Given the description of an element on the screen output the (x, y) to click on. 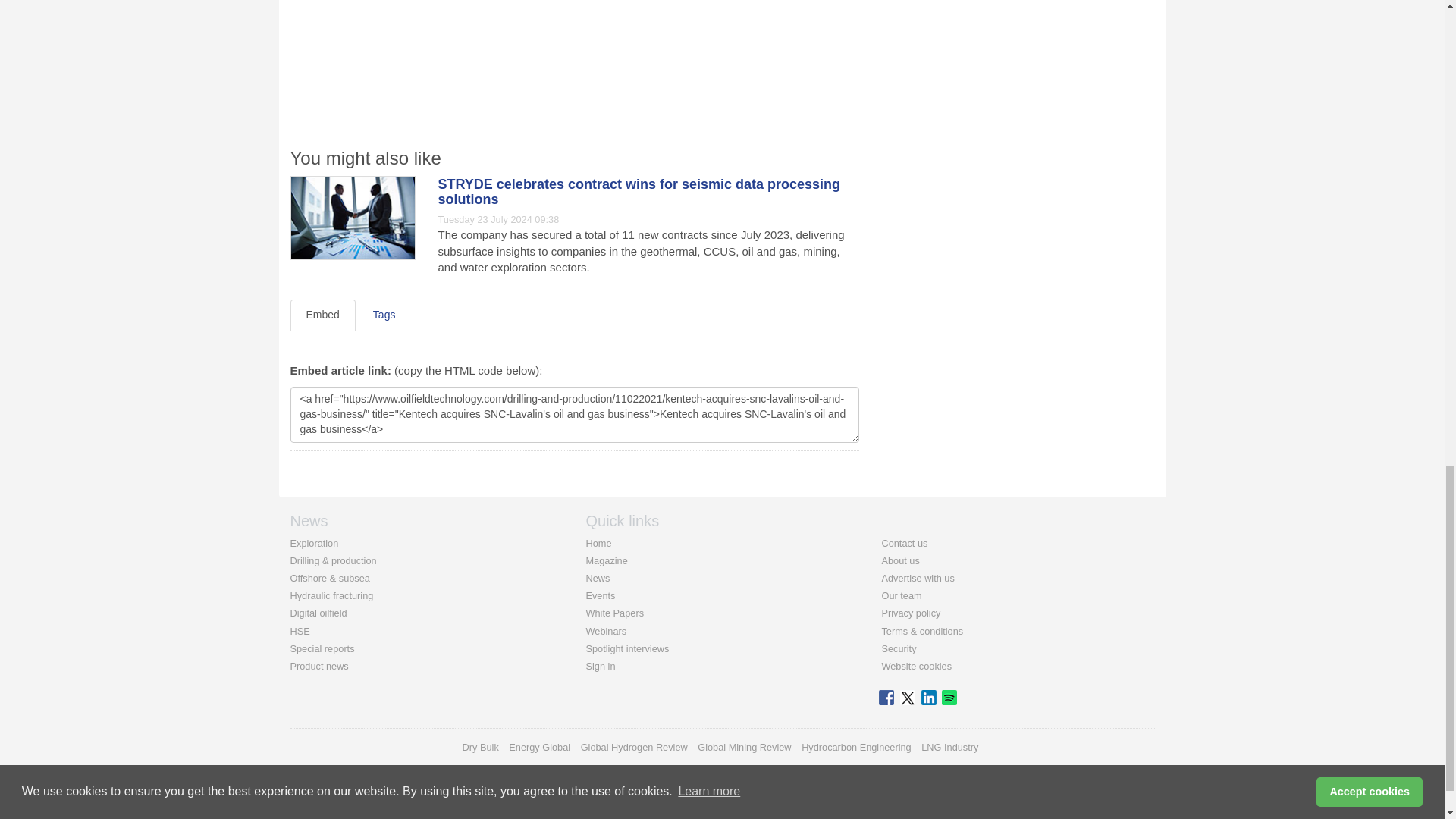
Embed (322, 315)
Tags (384, 315)
